Given the description of an element on the screen output the (x, y) to click on. 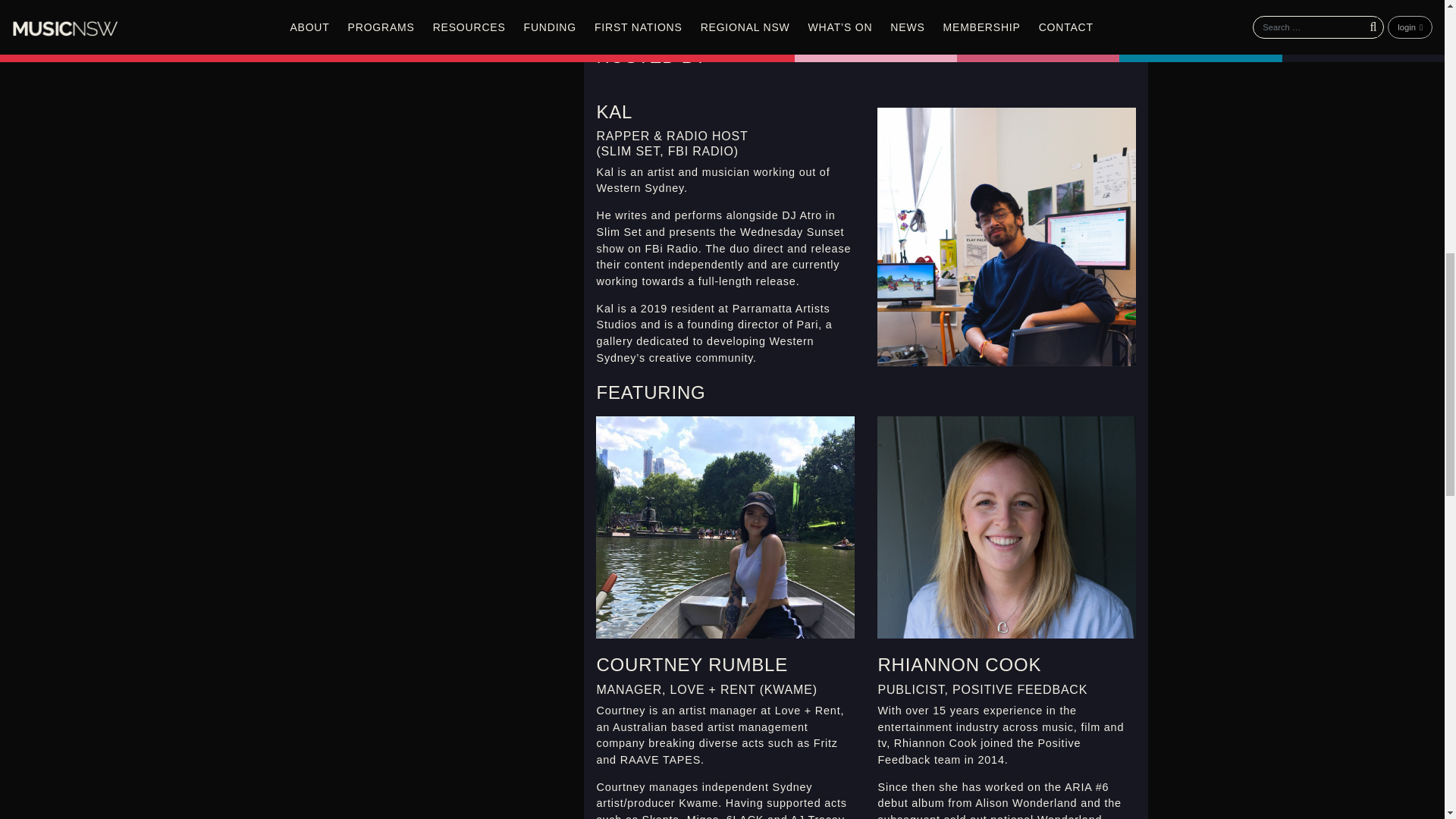
Rhiannon Cook (1006, 527)
Kal - Slim Set (1006, 236)
Courtney Rumble (724, 527)
